Given the description of an element on the screen output the (x, y) to click on. 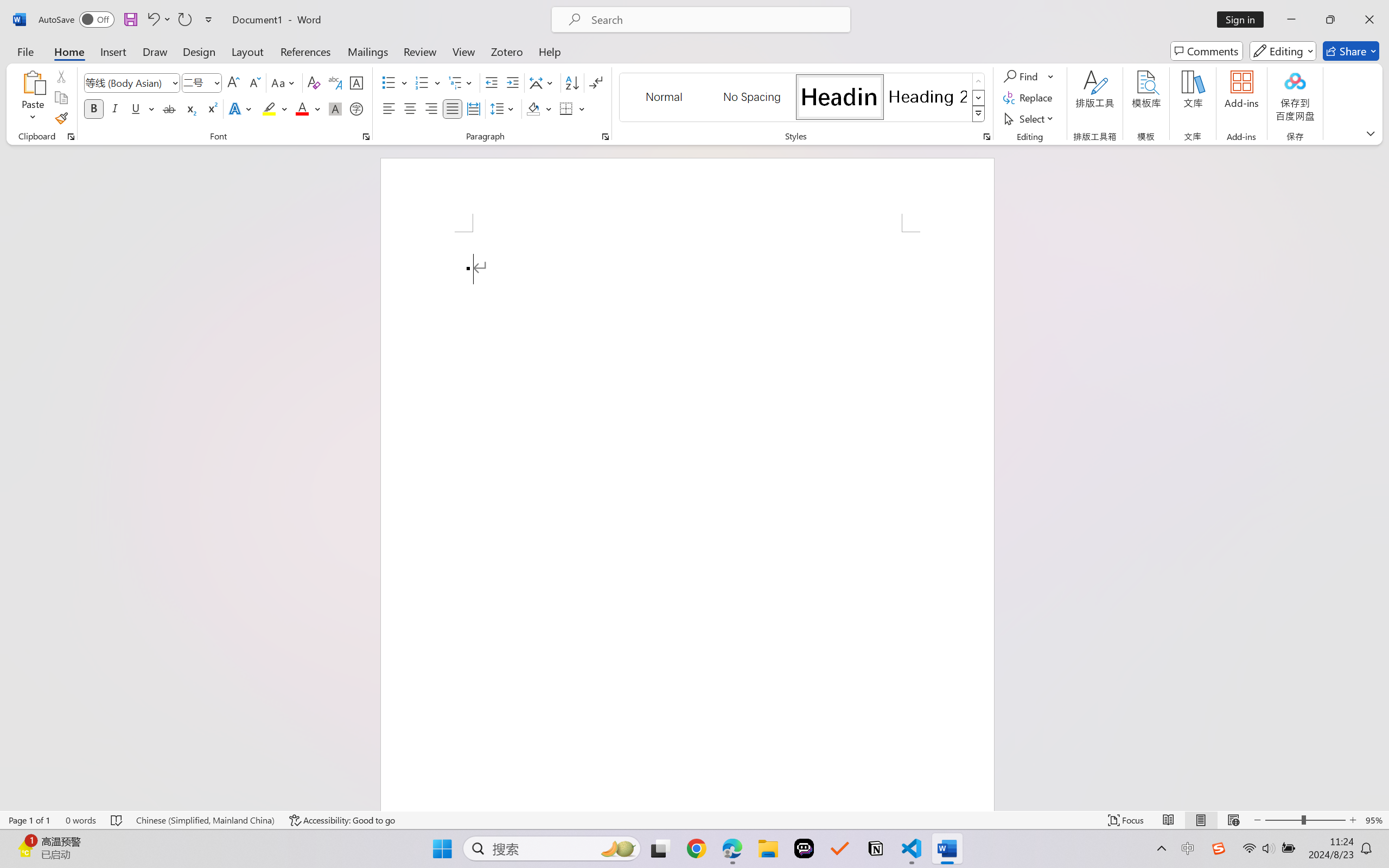
Undo Apply Quick Style (152, 19)
